Given the description of an element on the screen output the (x, y) to click on. 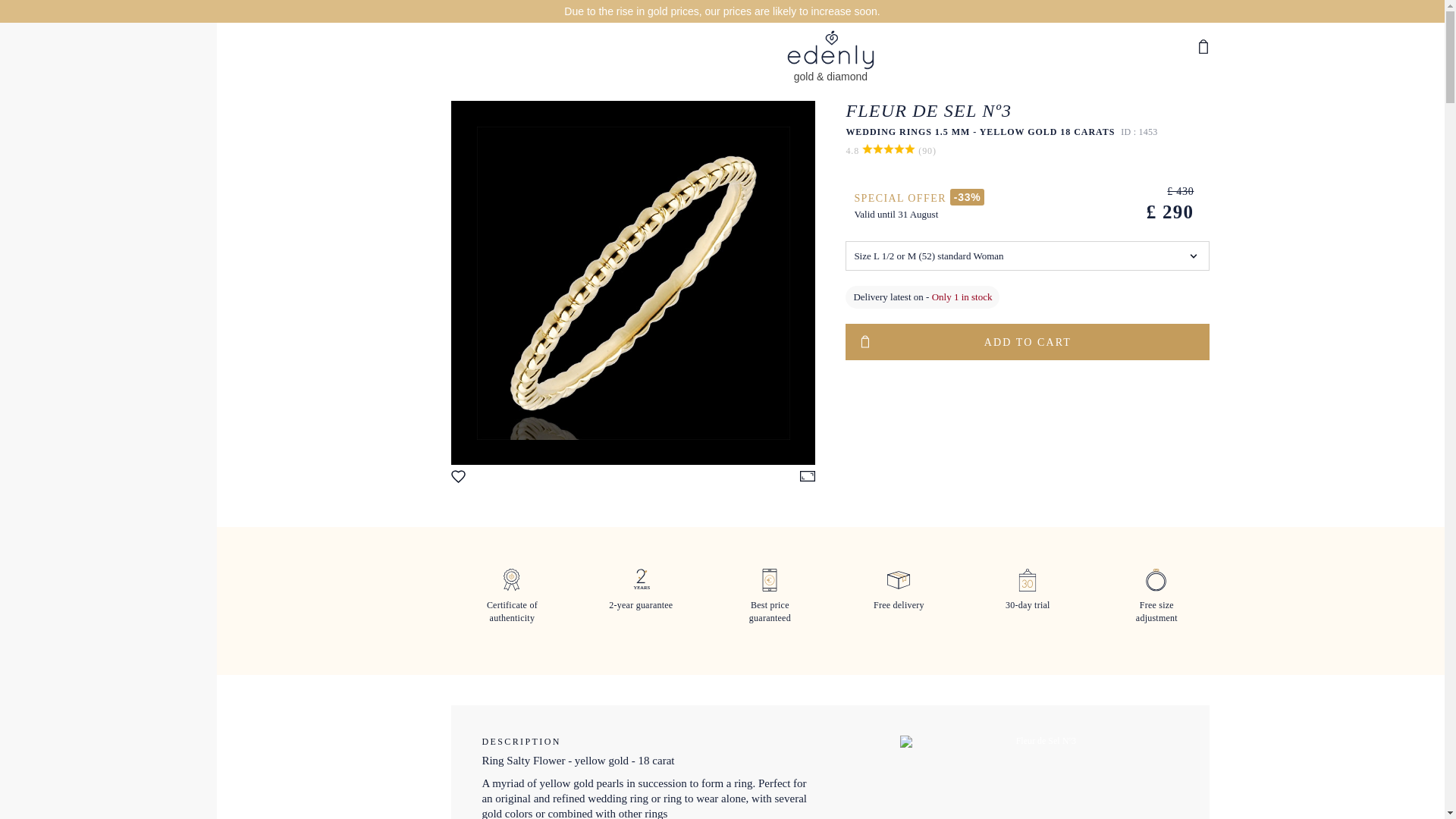
Valid until 31 August (895, 214)
Certificate of authenticity (511, 606)
ADD TO CART (1027, 341)
Favorites (461, 479)
- Only 1 in stock (958, 297)
